Given the description of an element on the screen output the (x, y) to click on. 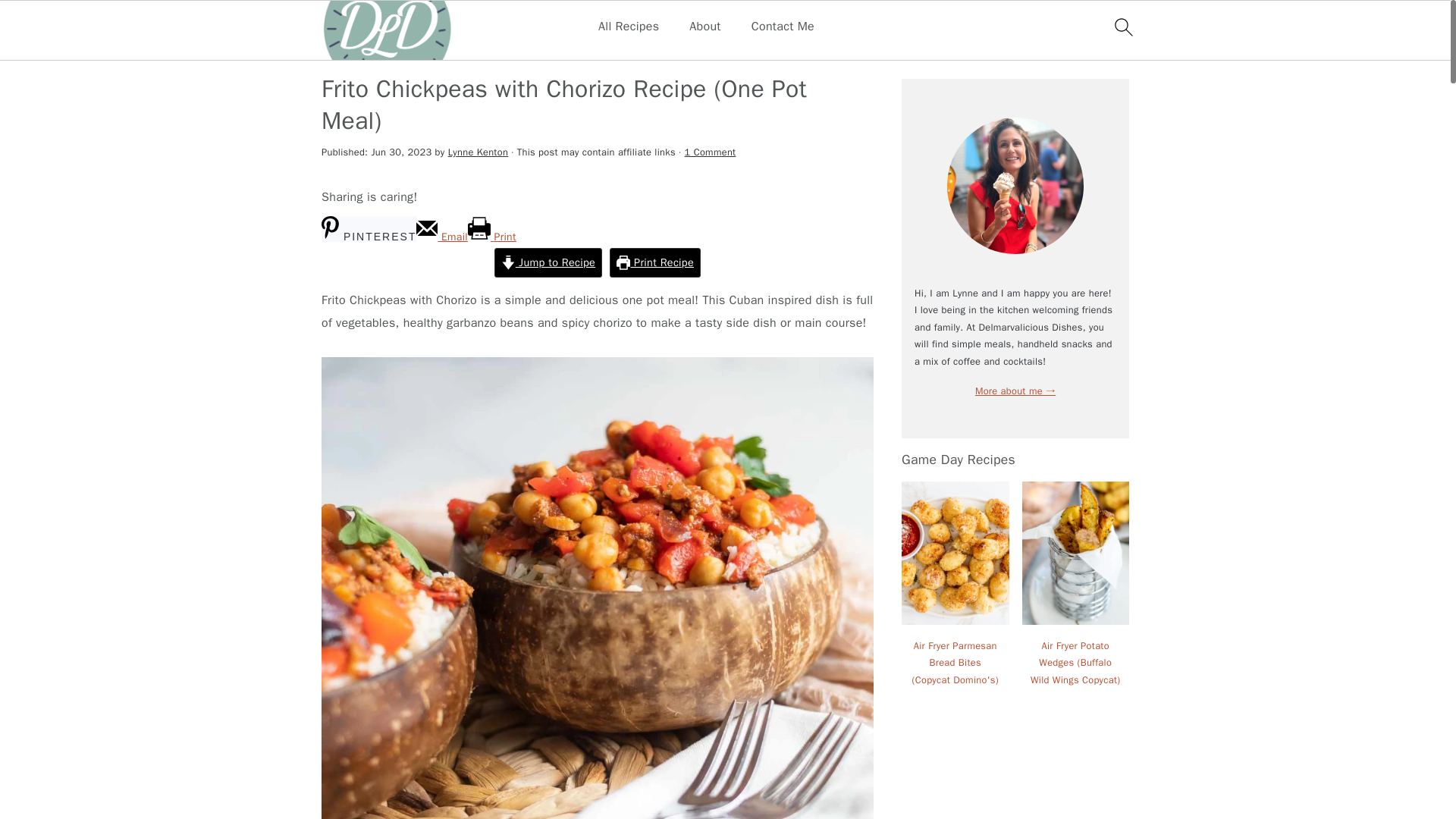
Delmarvalicious Dishes (385, 50)
Recipes (484, 50)
Print Recipe (655, 262)
Save to Pinterest (368, 228)
About (704, 26)
Send over email (441, 236)
All Recipes (628, 26)
Email (441, 236)
Print (491, 236)
